Given the description of an element on the screen output the (x, y) to click on. 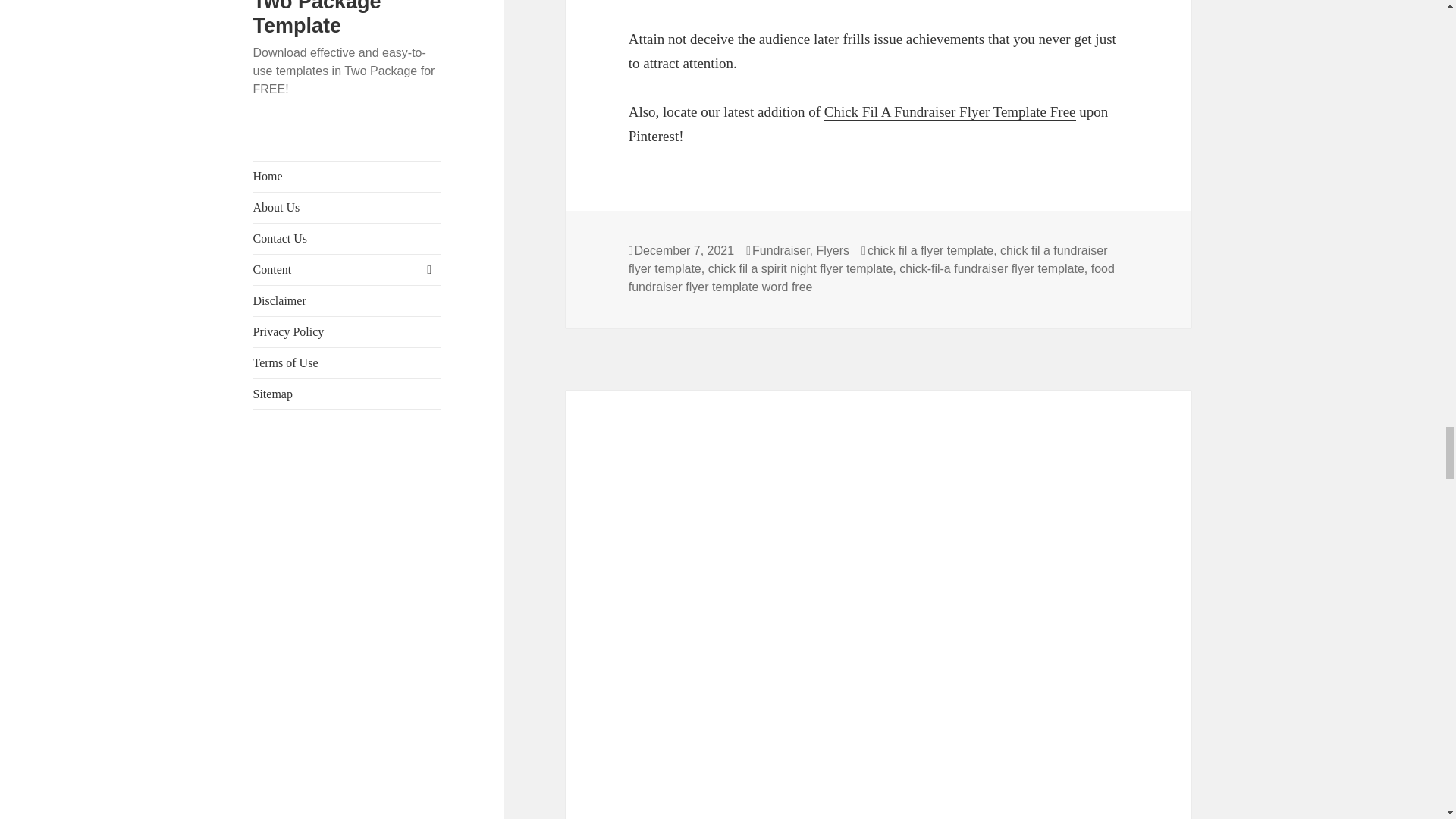
Flyers (831, 250)
food fundraiser flyer template word free (871, 278)
December 7, 2021 (684, 250)
Fundraiser (780, 250)
chick fil a fundraiser flyer template (868, 260)
chick fil a flyer template (929, 250)
chick-fil-a fundraiser flyer template (991, 269)
chick fil a spirit night flyer template (800, 269)
Chick Fil A Fundraiser Flyer Template Free (949, 112)
